Given the description of an element on the screen output the (x, y) to click on. 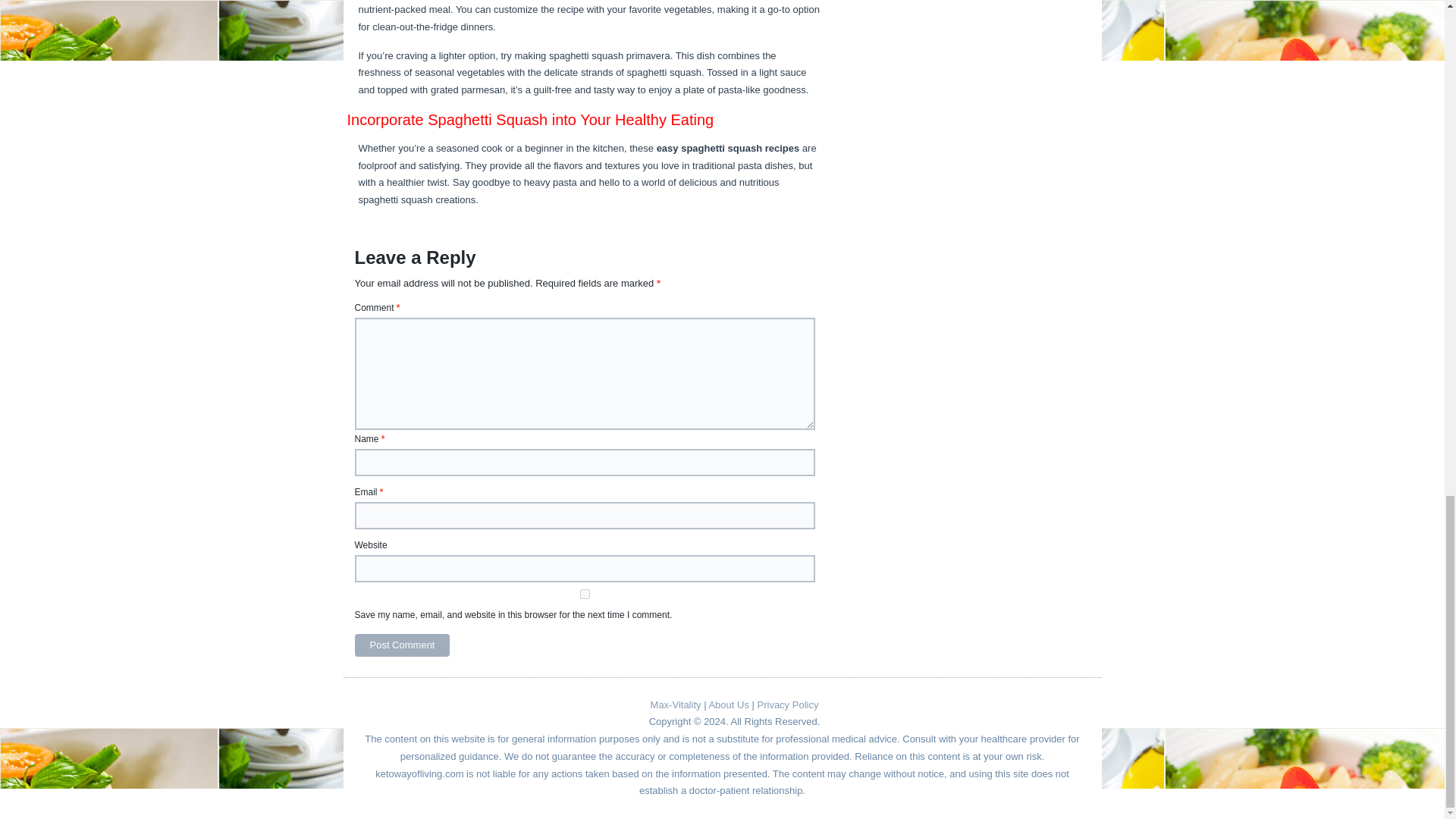
Post Comment (402, 644)
Keto Way Of Living RSS Feed (374, 708)
Max-Vitality (675, 704)
yes (585, 593)
Post Comment (402, 644)
Privacy Policy (787, 704)
About Us (727, 704)
